Given the description of an element on the screen output the (x, y) to click on. 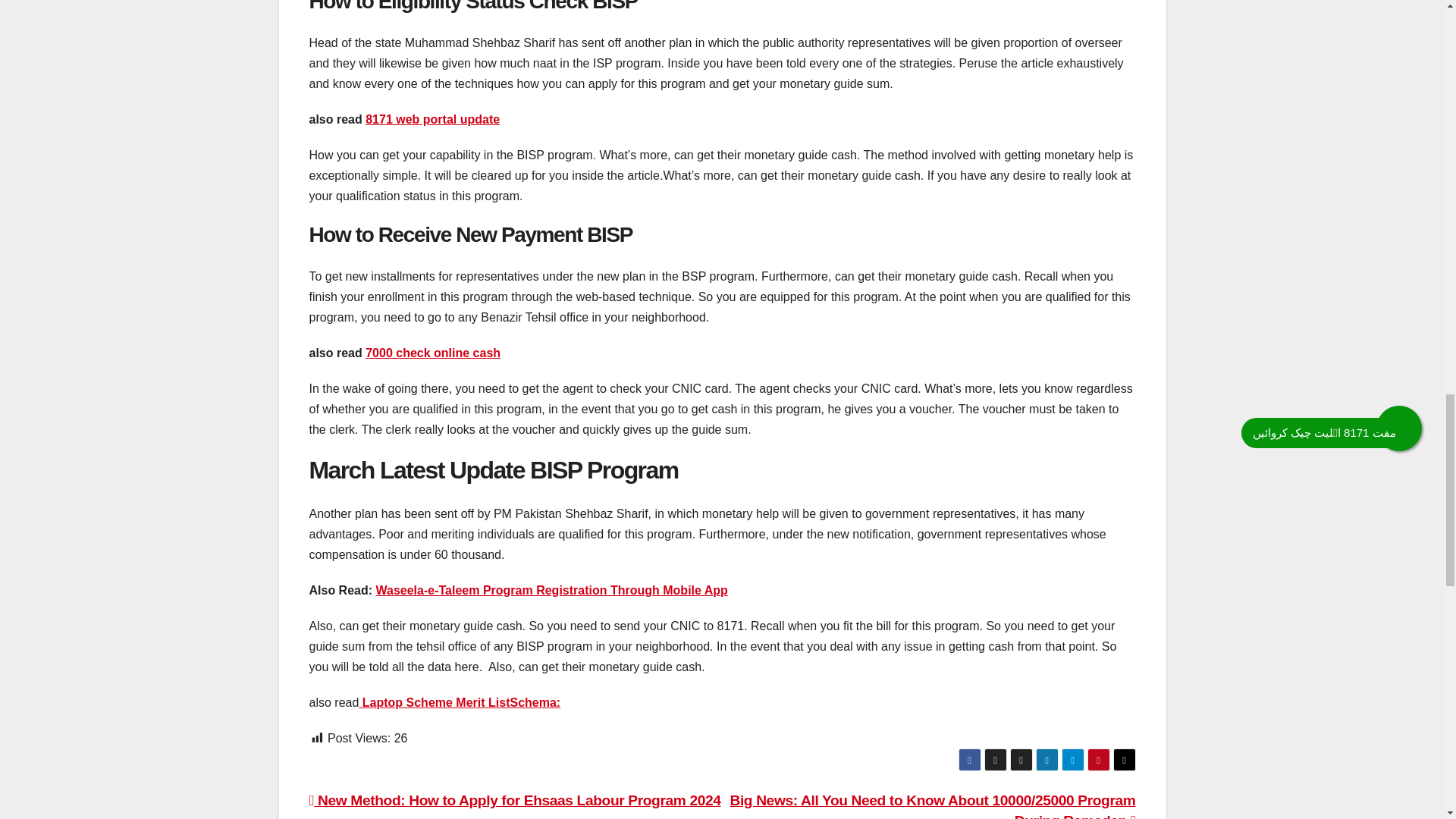
7000 check online cash (432, 352)
Laptop Scheme Merit ListSchema: (459, 702)
New Method: How to Apply for Ehsaas Labour Program 2024 (514, 800)
Waseela-e-Taleem Program Registration Through Mobile App (551, 590)
8171 web portal update (432, 119)
